Given the description of an element on the screen output the (x, y) to click on. 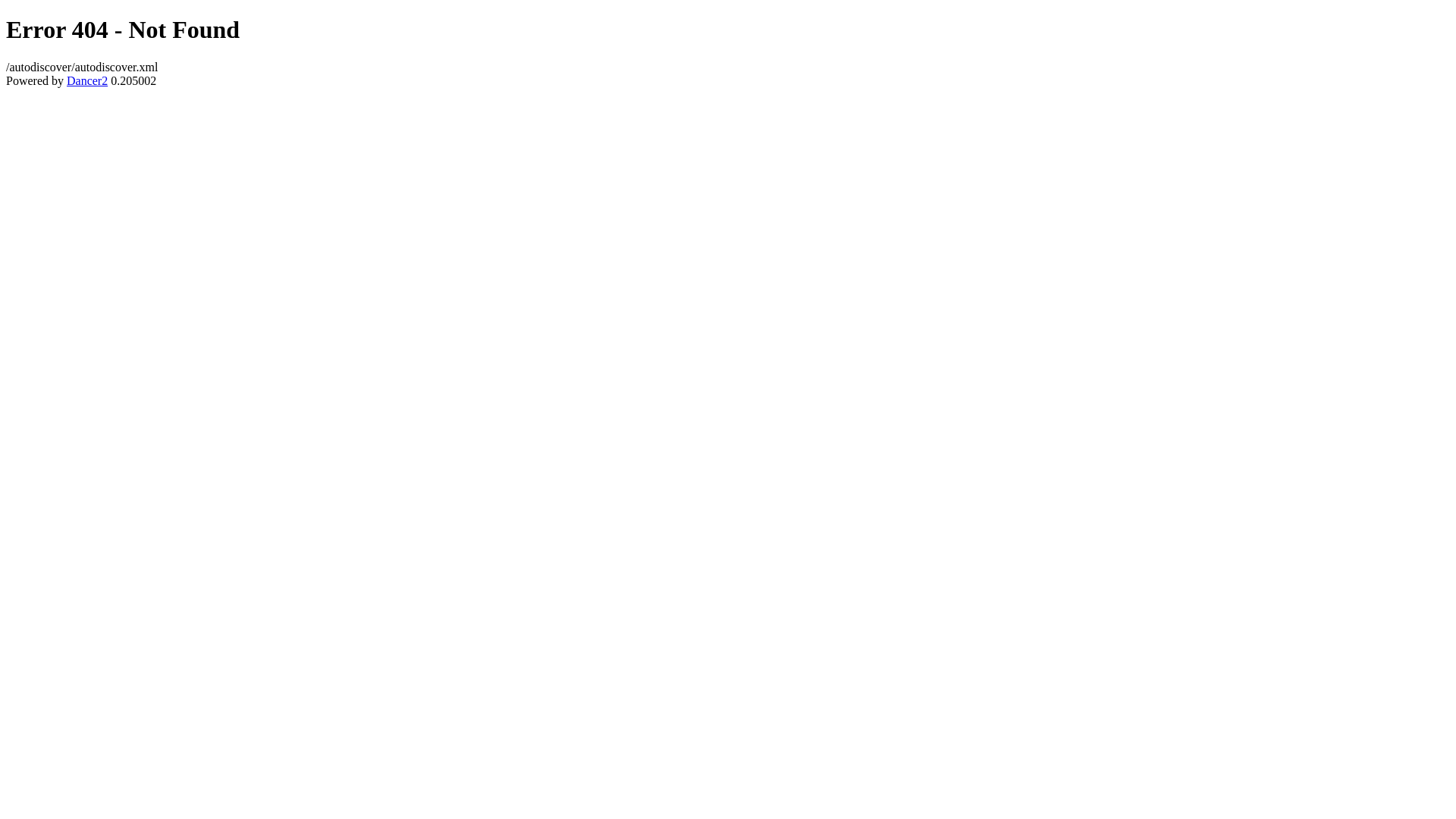
Dancer2 Element type: text (86, 80)
